Given the description of an element on the screen output the (x, y) to click on. 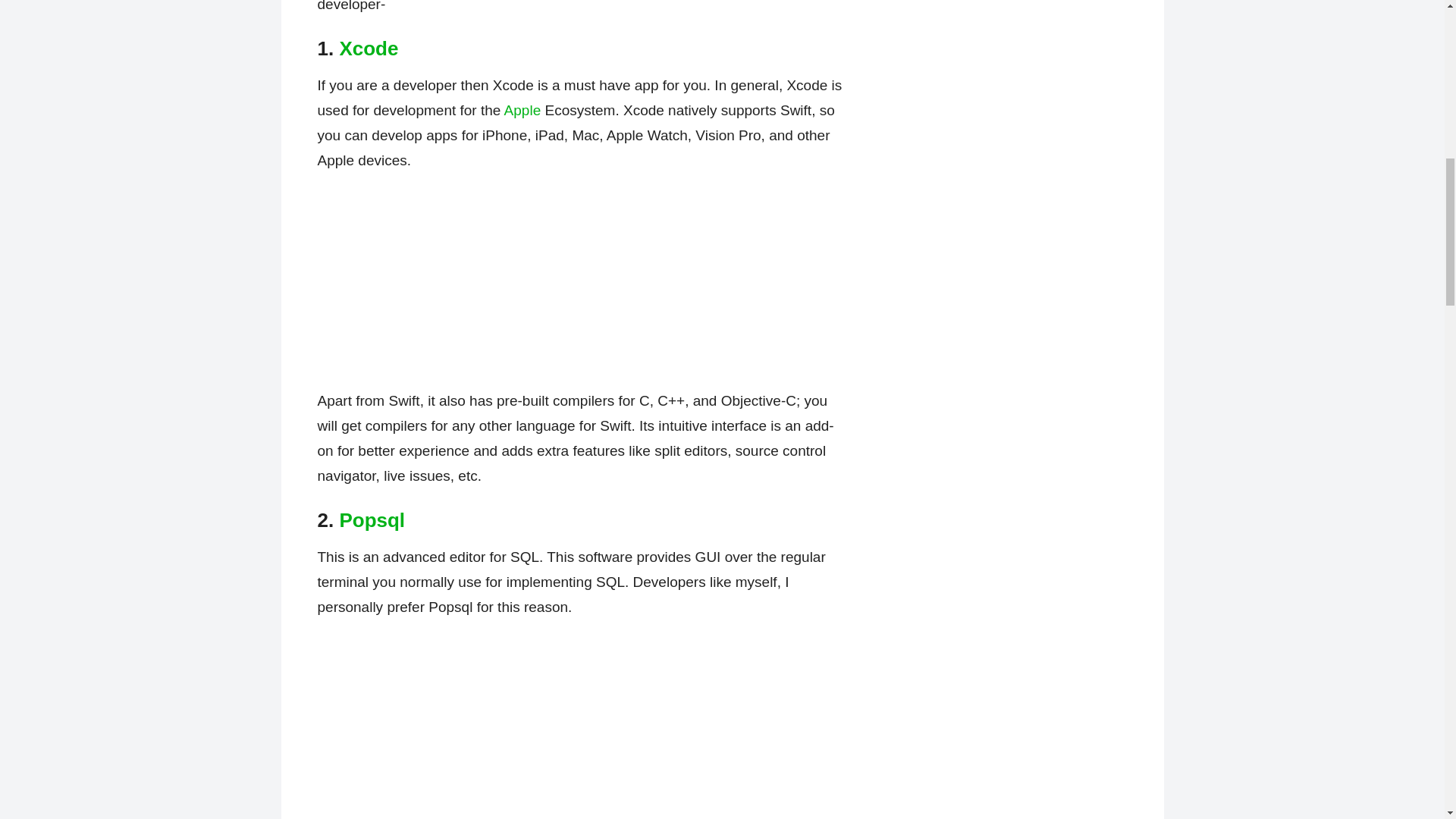
Xcode (368, 47)
